Given the description of an element on the screen output the (x, y) to click on. 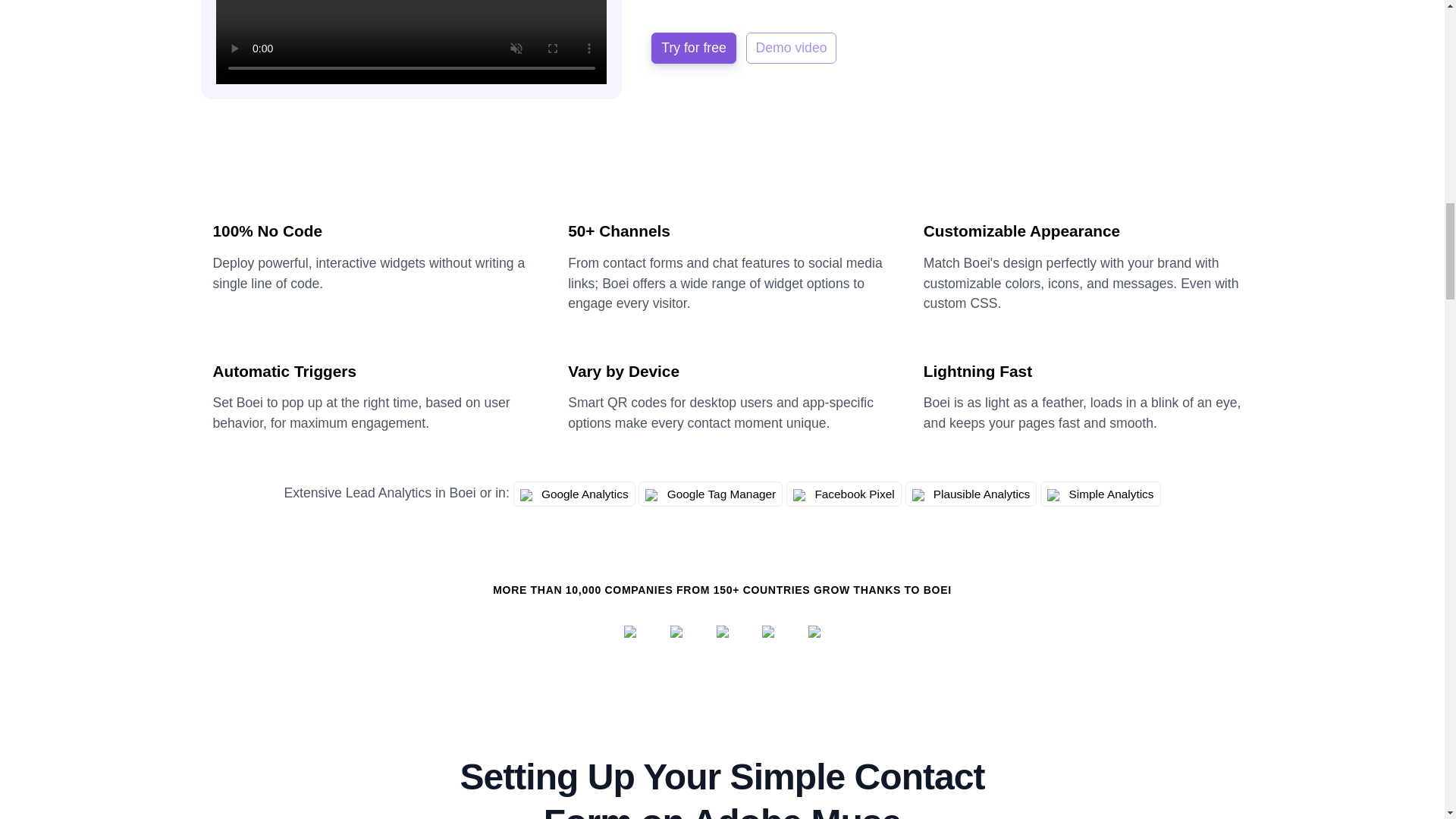
Google Analytics (573, 493)
Try for free (692, 47)
Simple Analytics (1100, 493)
Google Tag Manager (711, 493)
Facebook Pixel (843, 493)
Plausible Analytics (970, 493)
Demo video (791, 47)
